Given the description of an element on the screen output the (x, y) to click on. 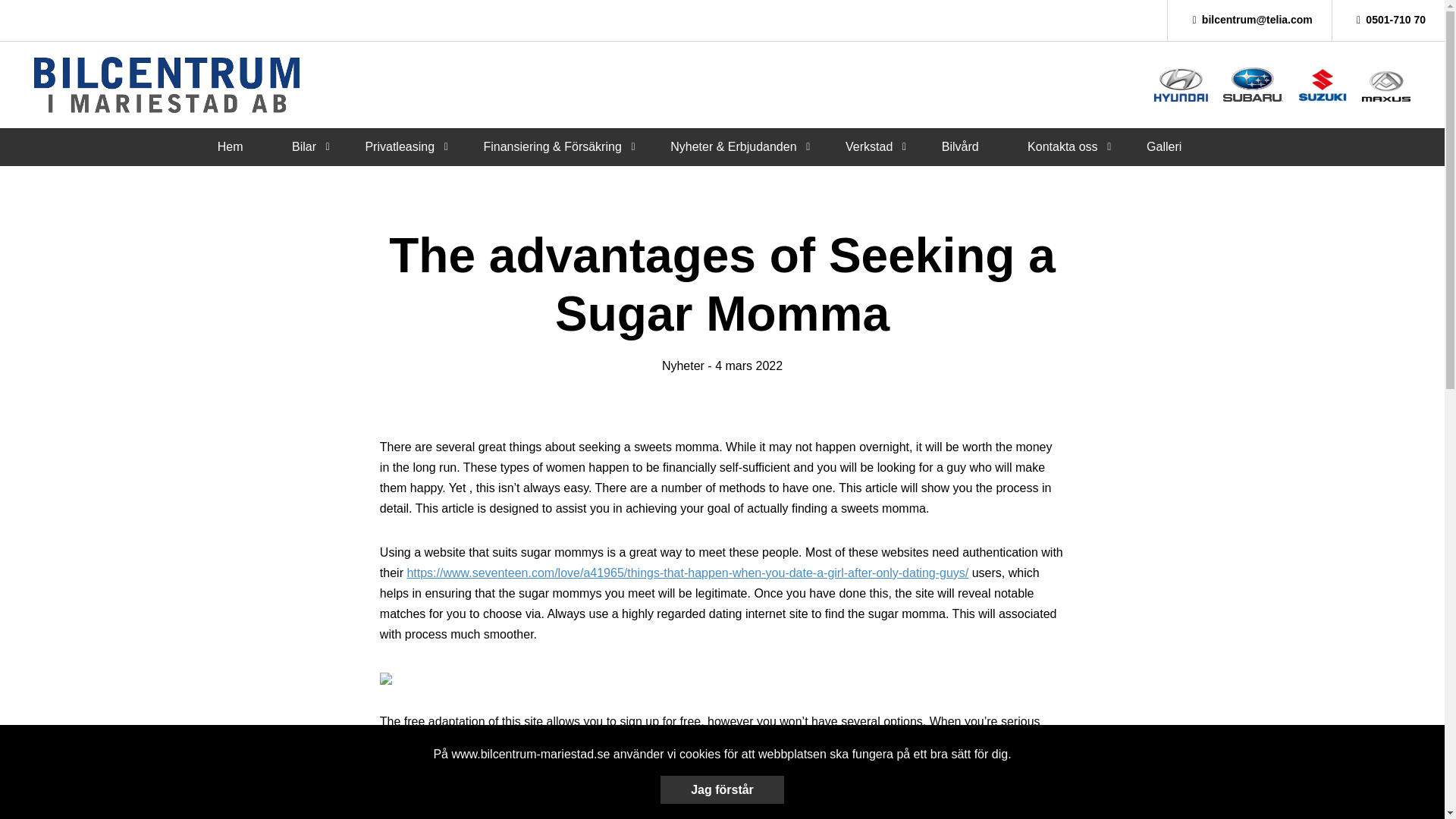
Bilar (303, 146)
Privatleasing (399, 146)
Hem (229, 146)
Bilcentrum i Mariestad AB (166, 84)
Verkstad (868, 146)
